Given the description of an element on the screen output the (x, y) to click on. 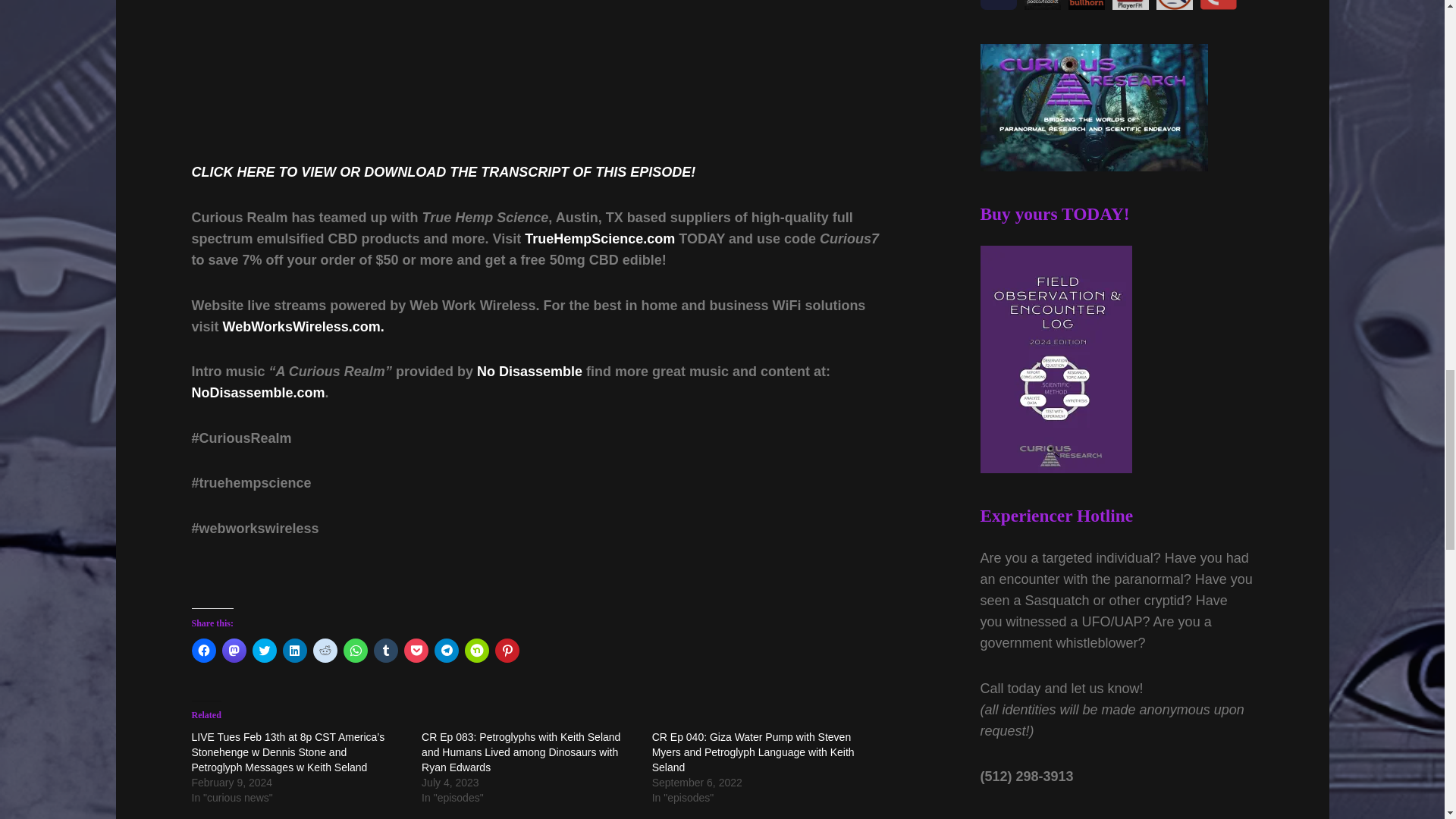
Click to share on Facebook (202, 650)
Click to share on Twitter (263, 650)
Click to share on Reddit (324, 650)
Click to share on Nextdoor (475, 650)
Click to share on Mastodon (233, 650)
Click to share on Pinterest (506, 650)
Click to share on Telegram (445, 650)
Click to share on Pocket (415, 650)
Click to share on LinkedIn (293, 650)
Click to share on WhatsApp (354, 650)
Click to share on Tumblr (384, 650)
